Given the description of an element on the screen output the (x, y) to click on. 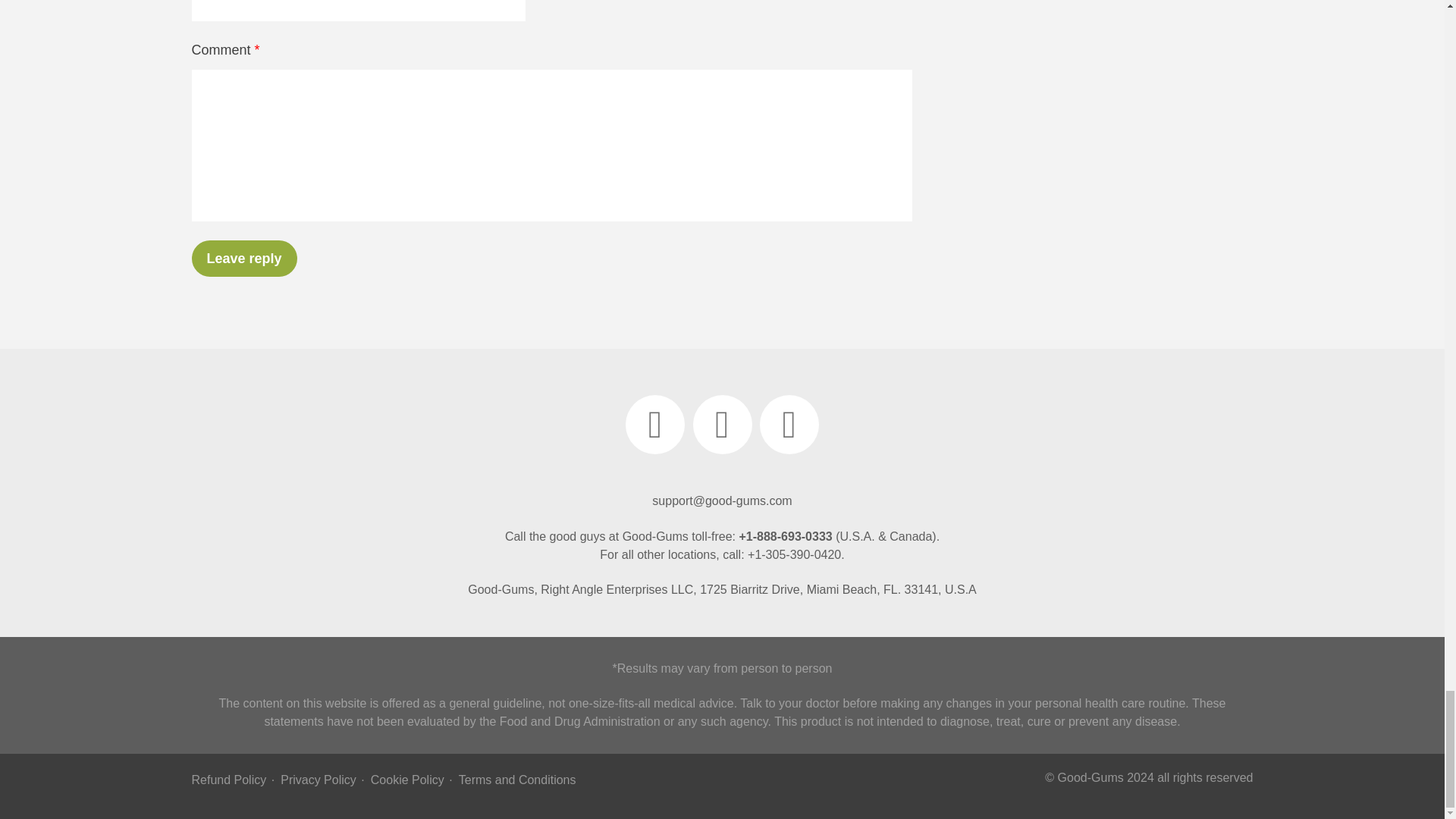
YouTube (789, 424)
Instagram (722, 424)
Leave reply (243, 258)
Facebook (655, 424)
